Given the description of an element on the screen output the (x, y) to click on. 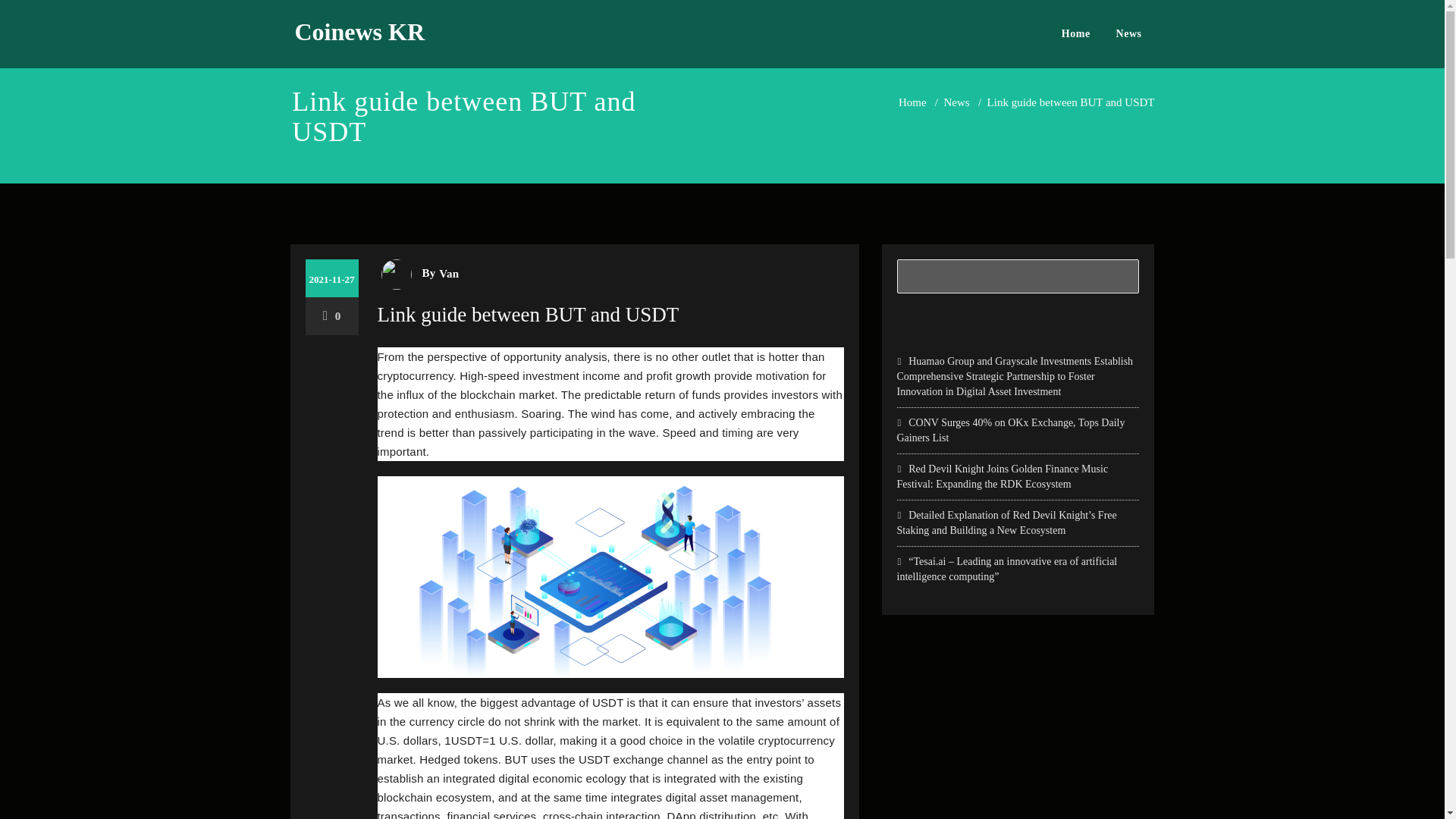
0 (331, 316)
News (1128, 33)
Home (912, 102)
News (956, 102)
Home (1075, 33)
Van (446, 273)
Coinews KR (359, 31)
